Given the description of an element on the screen output the (x, y) to click on. 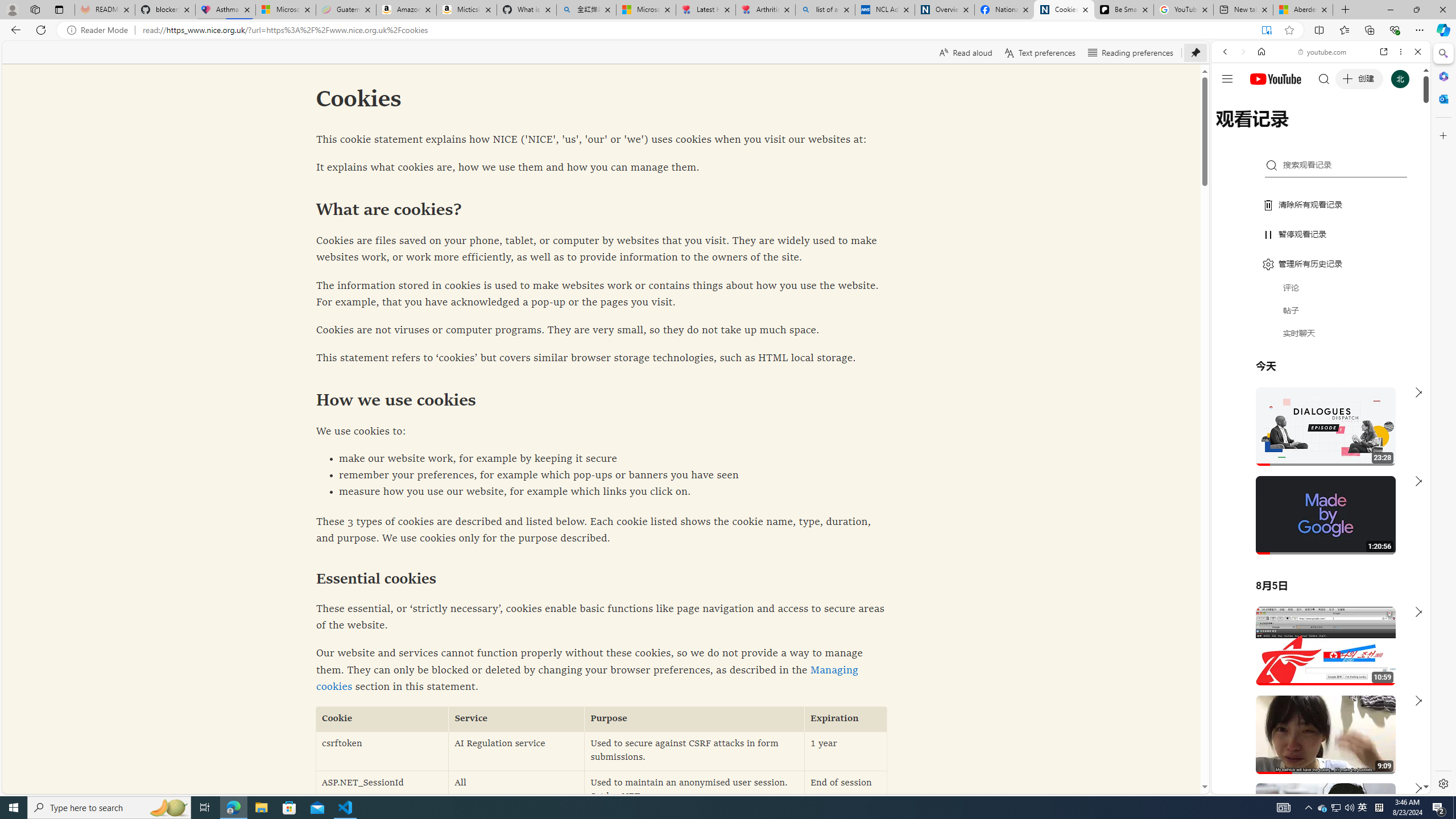
Expiration (844, 718)
